Given the description of an element on the screen output the (x, y) to click on. 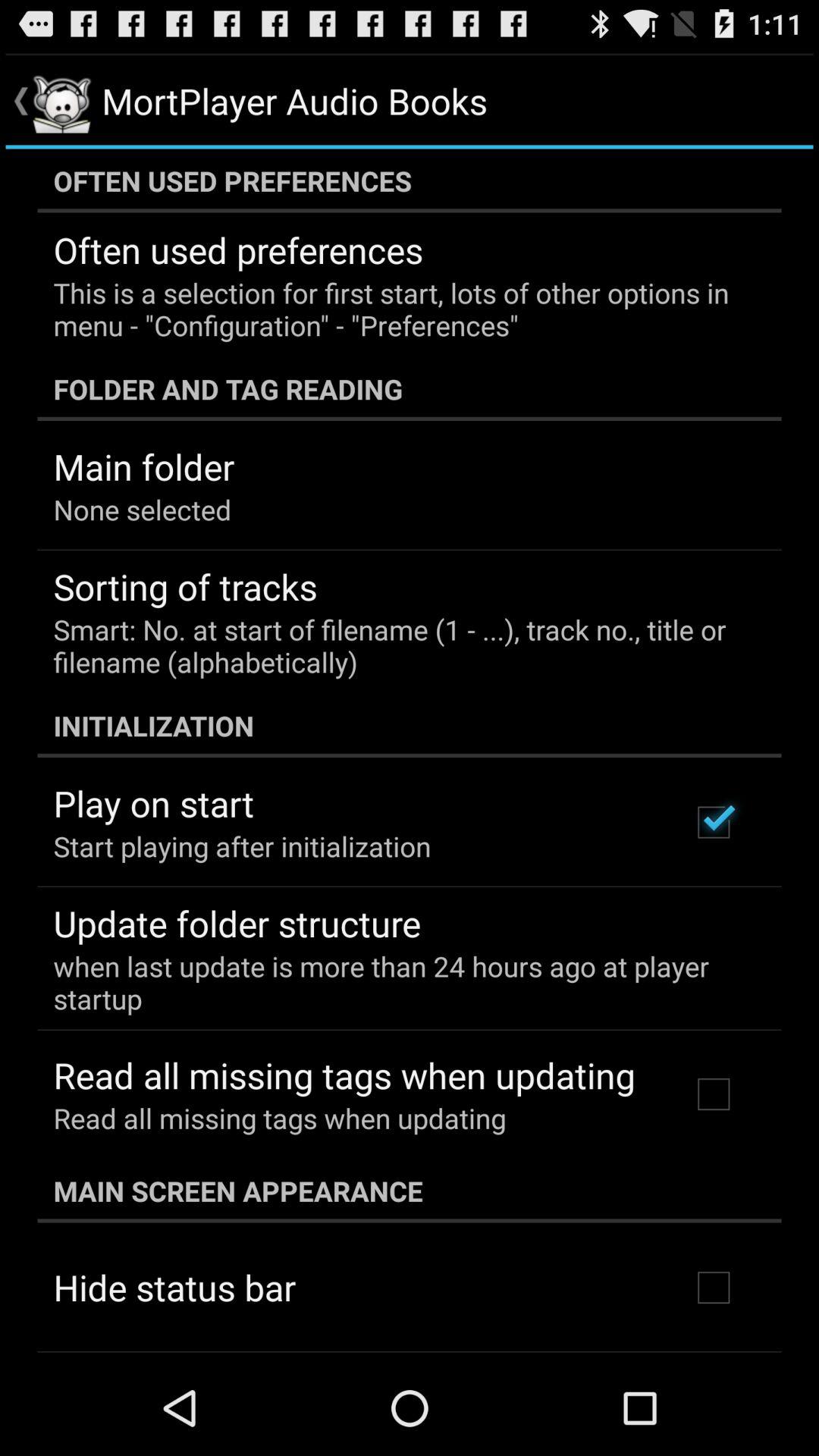
scroll until the this is a item (399, 309)
